Given the description of an element on the screen output the (x, y) to click on. 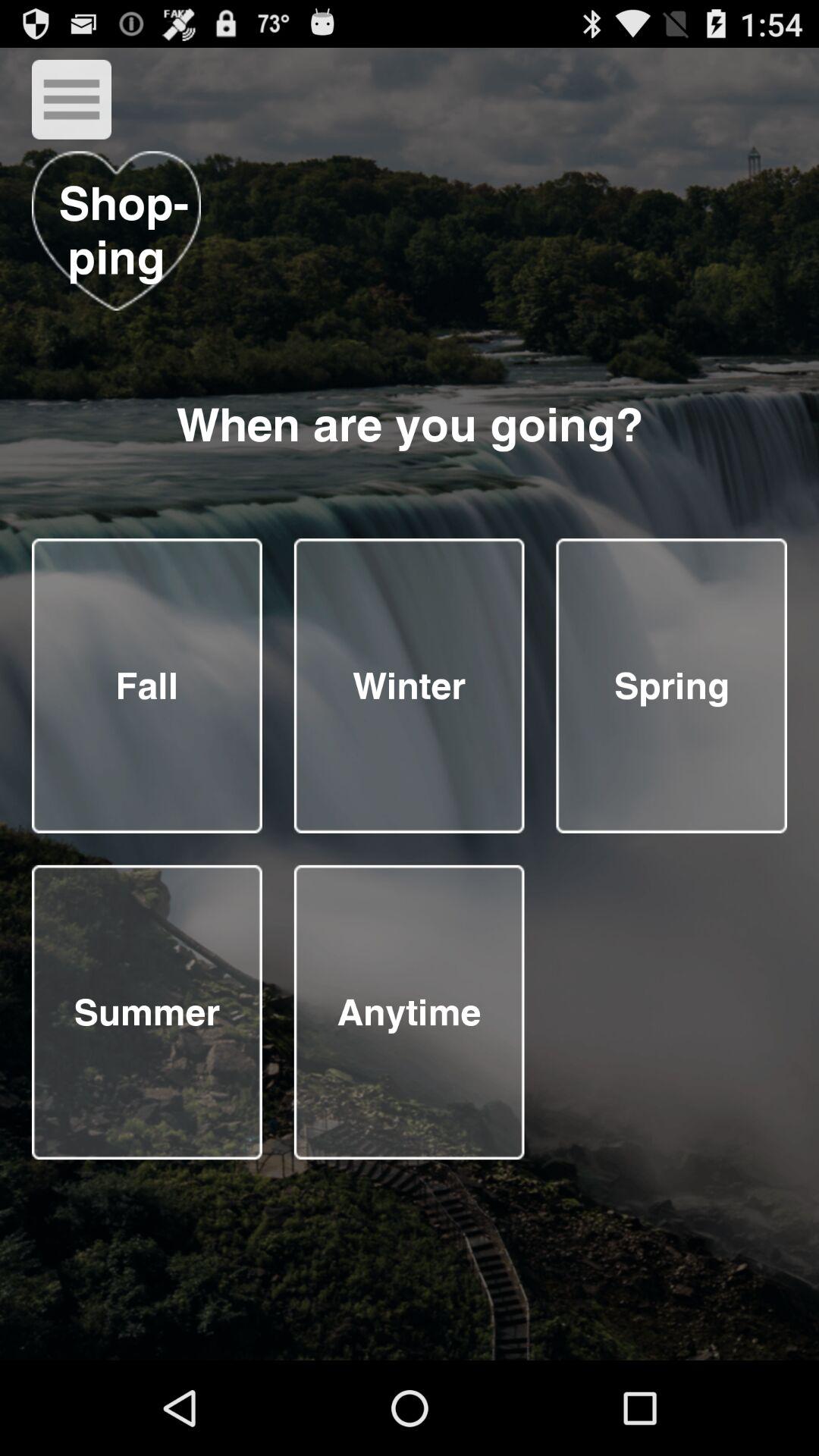
main menu (71, 99)
